Given the description of an element on the screen output the (x, y) to click on. 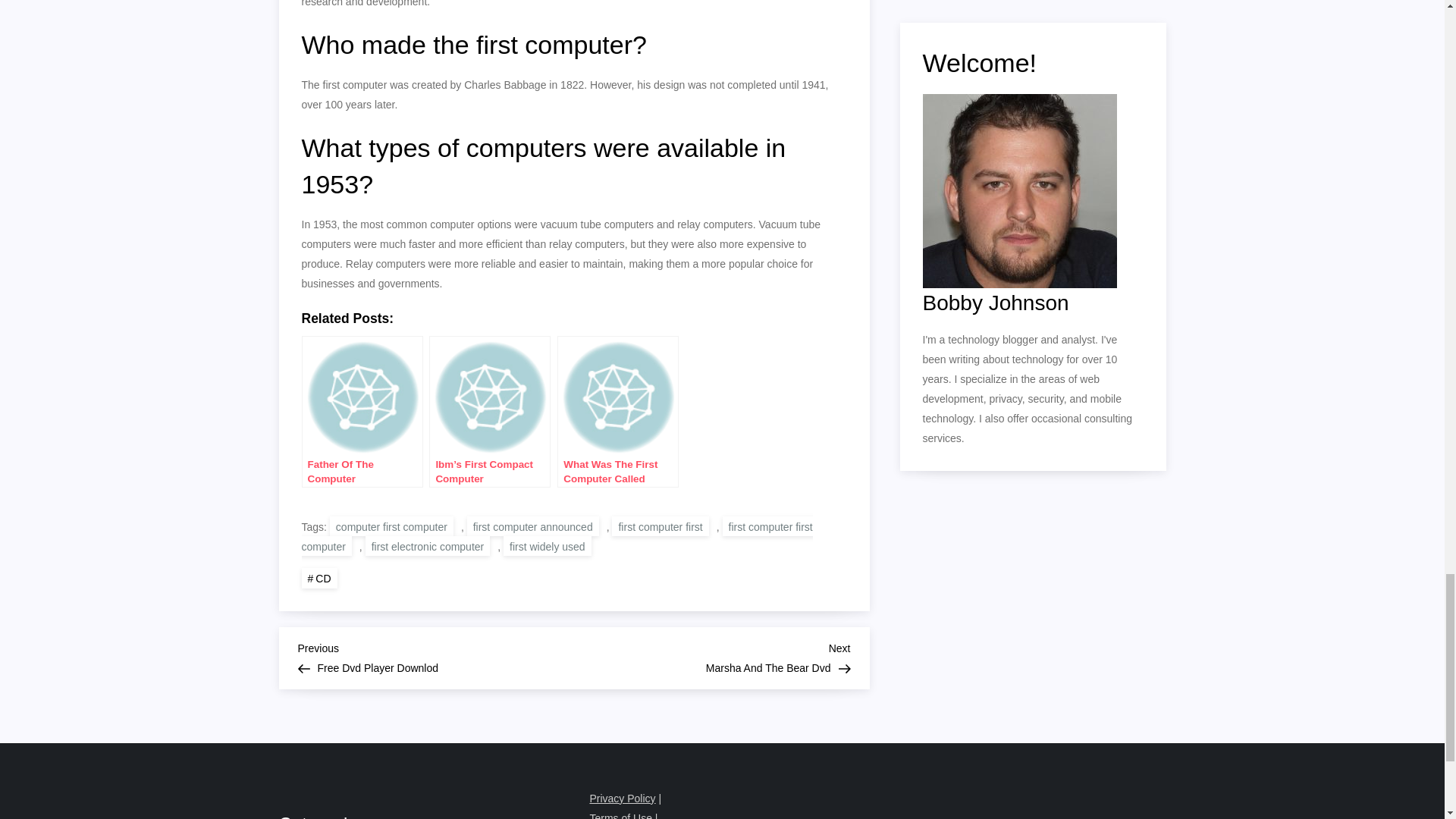
computer first computer (391, 526)
Privacy Policy (622, 798)
CD (435, 656)
first computer announced (319, 578)
first computer first (532, 526)
first electronic computer (711, 656)
first widely used (659, 526)
first computer first computer (427, 546)
Terms of Use (547, 546)
